Given the description of an element on the screen output the (x, y) to click on. 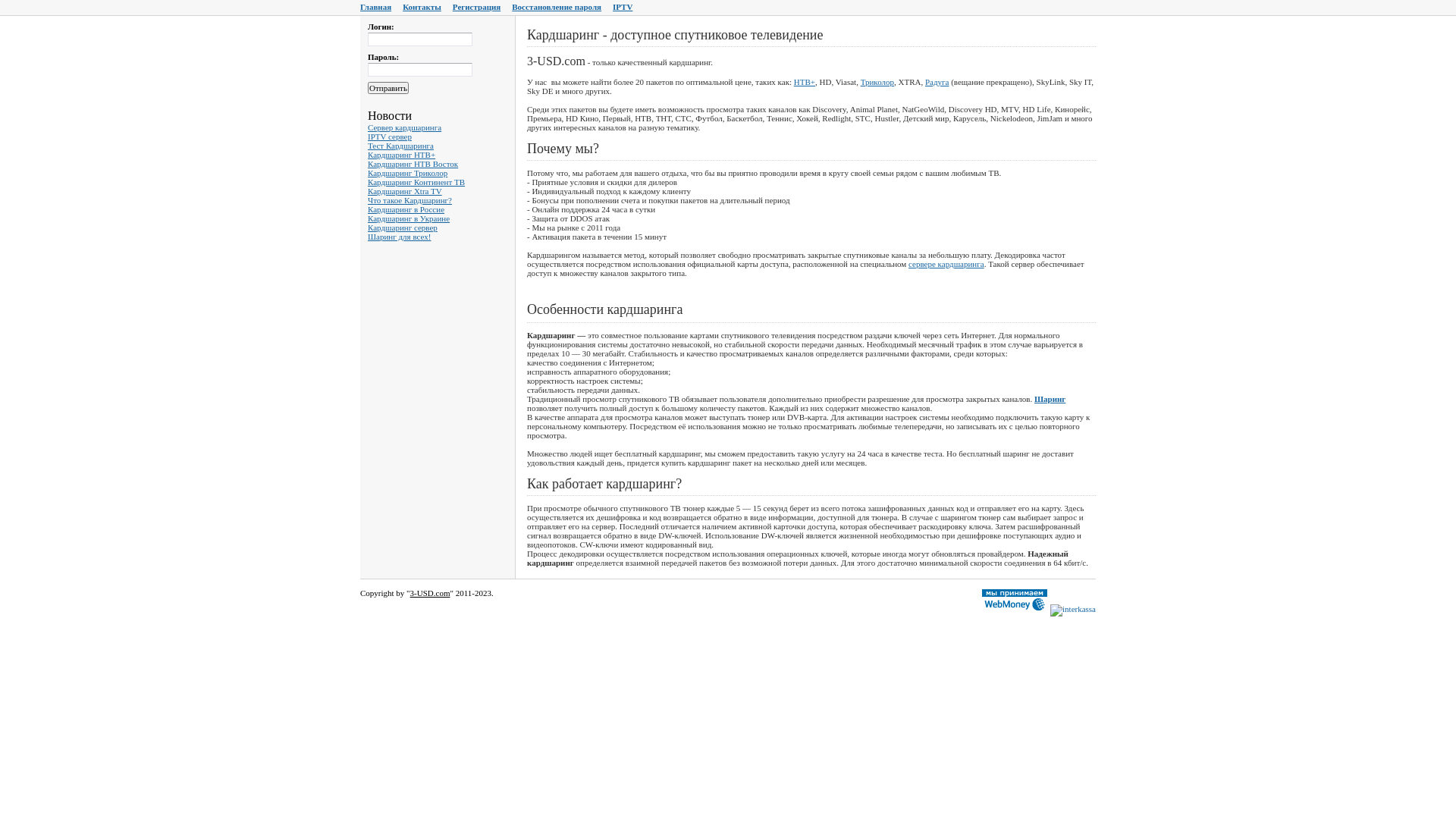
3-USD.com Element type: text (430, 592)
IPTV Element type: text (622, 6)
